Given the description of an element on the screen output the (x, y) to click on. 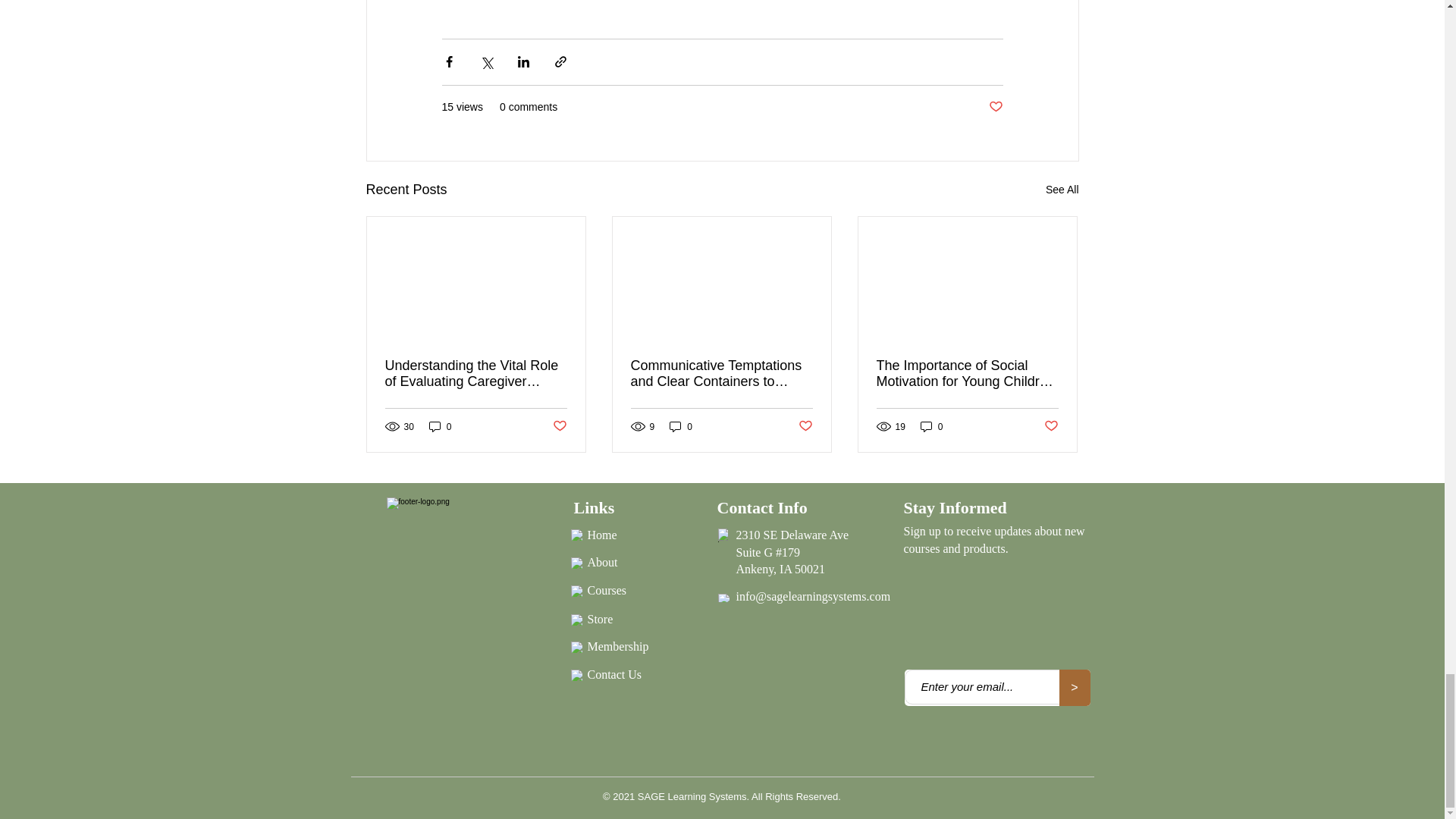
Post not marked as liked (995, 107)
Post not marked as liked (558, 426)
0 (440, 426)
See All (1061, 189)
